Given the description of an element on the screen output the (x, y) to click on. 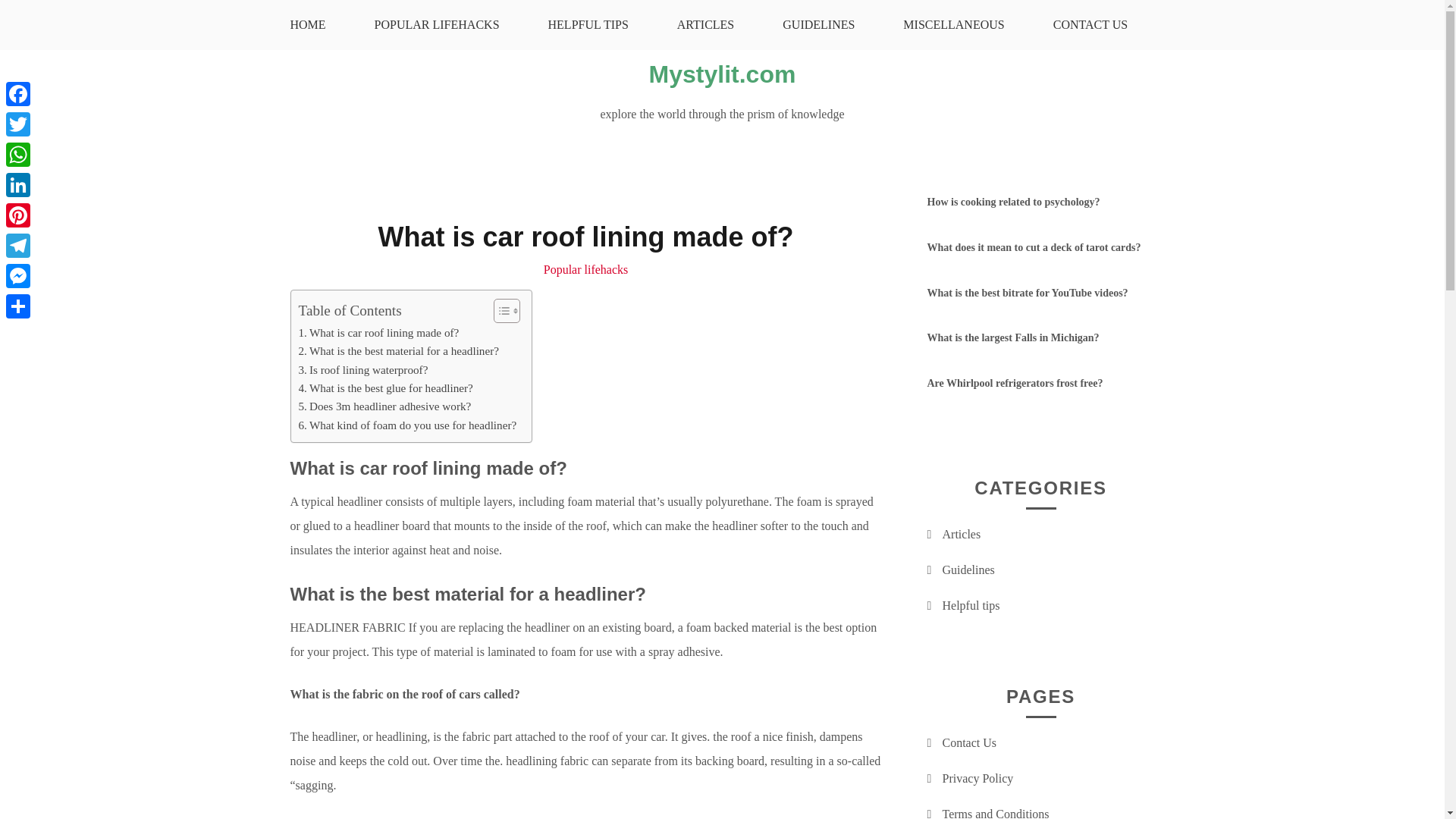
What kind of foam do you use for headliner? (407, 425)
What is the best bitrate for YouTube videos? (1026, 292)
Is roof lining waterproof? (363, 370)
What is the best material for a headliner? (398, 351)
LinkedIn (17, 184)
Is roof lining waterproof? (363, 370)
What kind of foam do you use for headliner? (407, 425)
Popular lifehacks (585, 269)
MISCELLANEOUS (953, 24)
How is cooking related to psychology? (1012, 202)
Mystylit.com (722, 73)
What is the best glue for headliner? (385, 388)
GUIDELINES (818, 24)
Facebook (17, 93)
What is car roof lining made of? (379, 332)
